Given the description of an element on the screen output the (x, y) to click on. 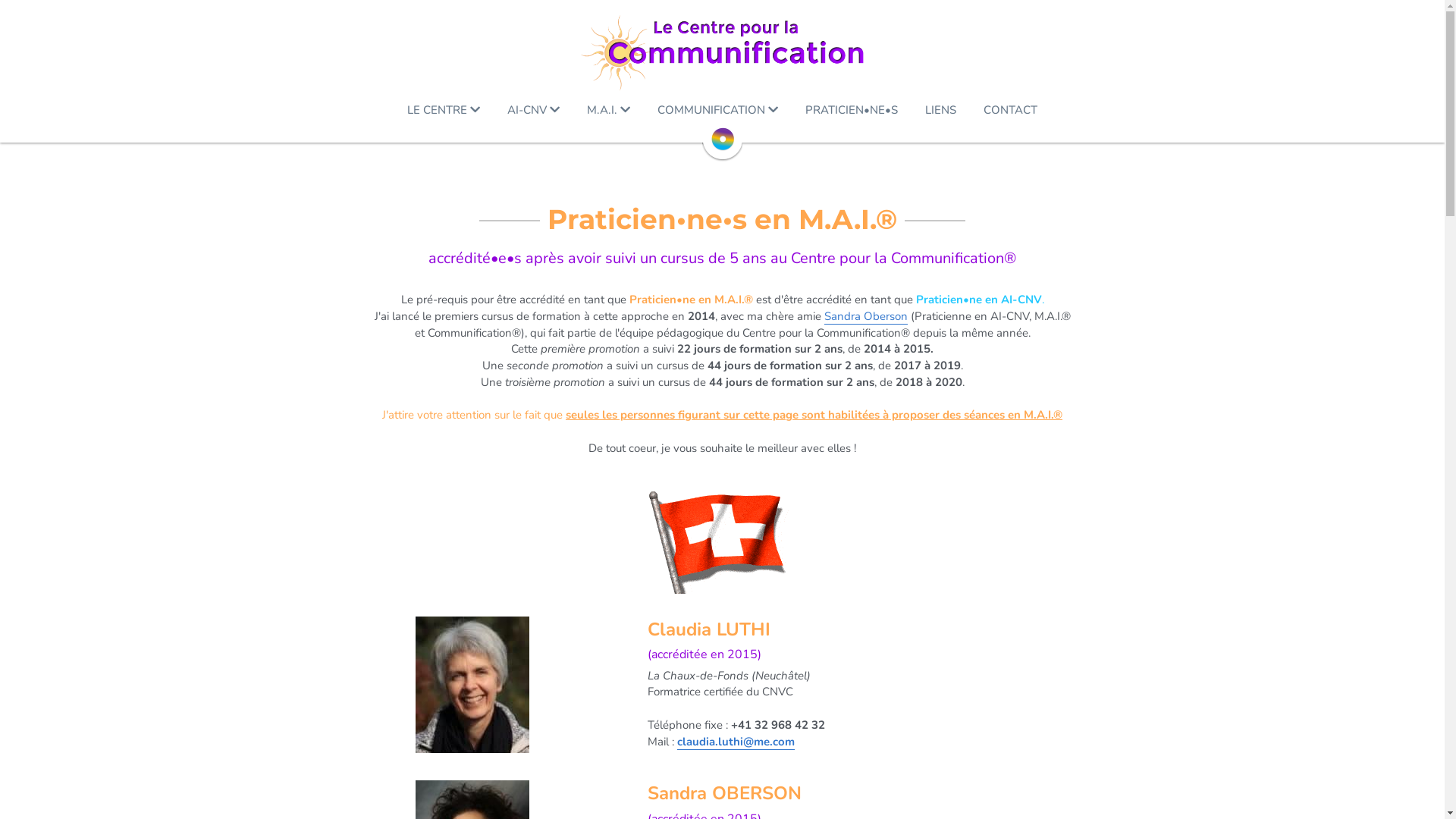
andra Oberson Element type: text (869, 316)
LIENS Element type: text (940, 109)
CONTACT Element type: text (1010, 109)
S Element type: text (826, 316)
claudia.luthi@me.com Element type: text (734, 741)
